Given the description of an element on the screen output the (x, y) to click on. 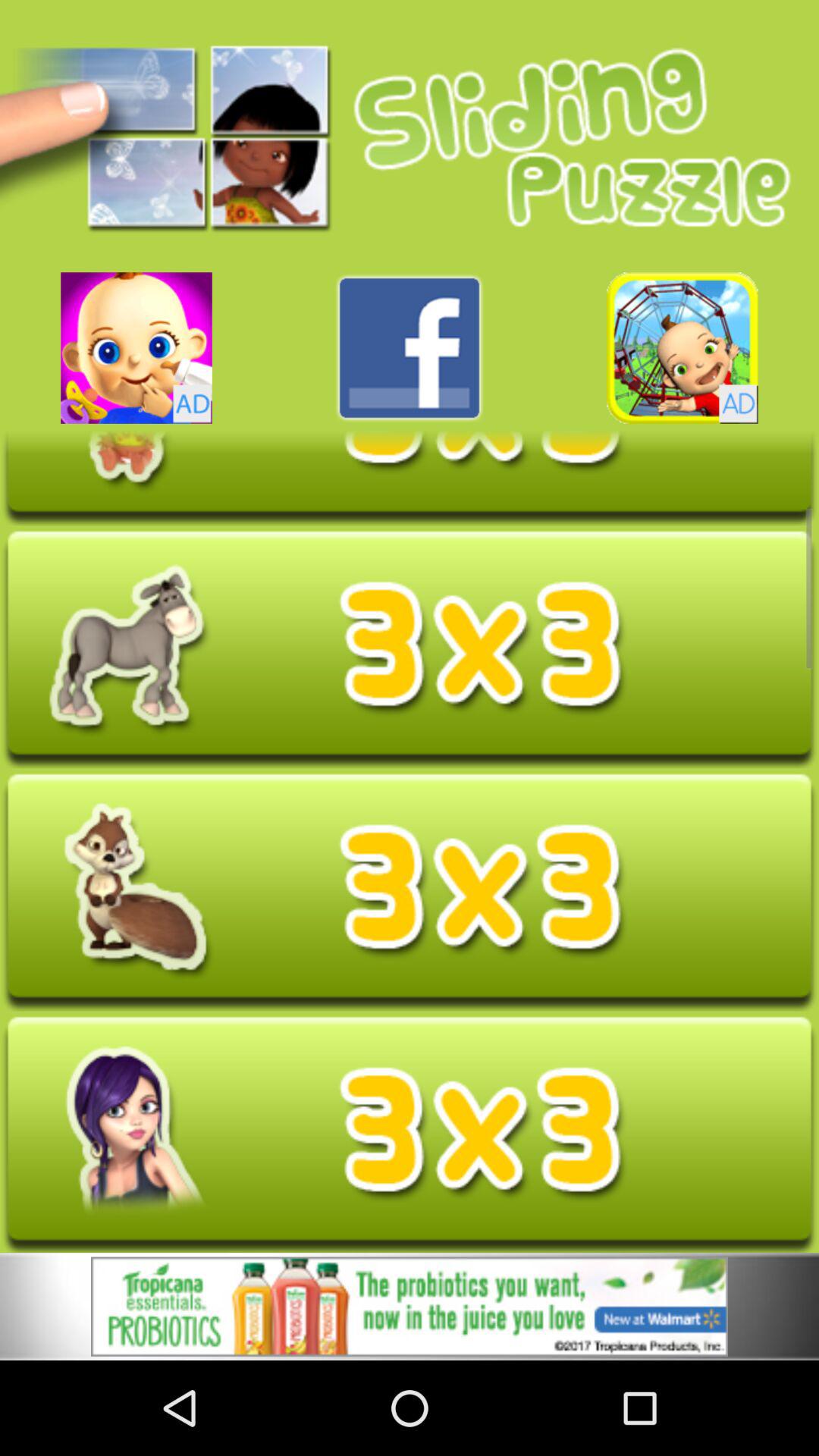
select puzzle (409, 648)
